Given the description of an element on the screen output the (x, y) to click on. 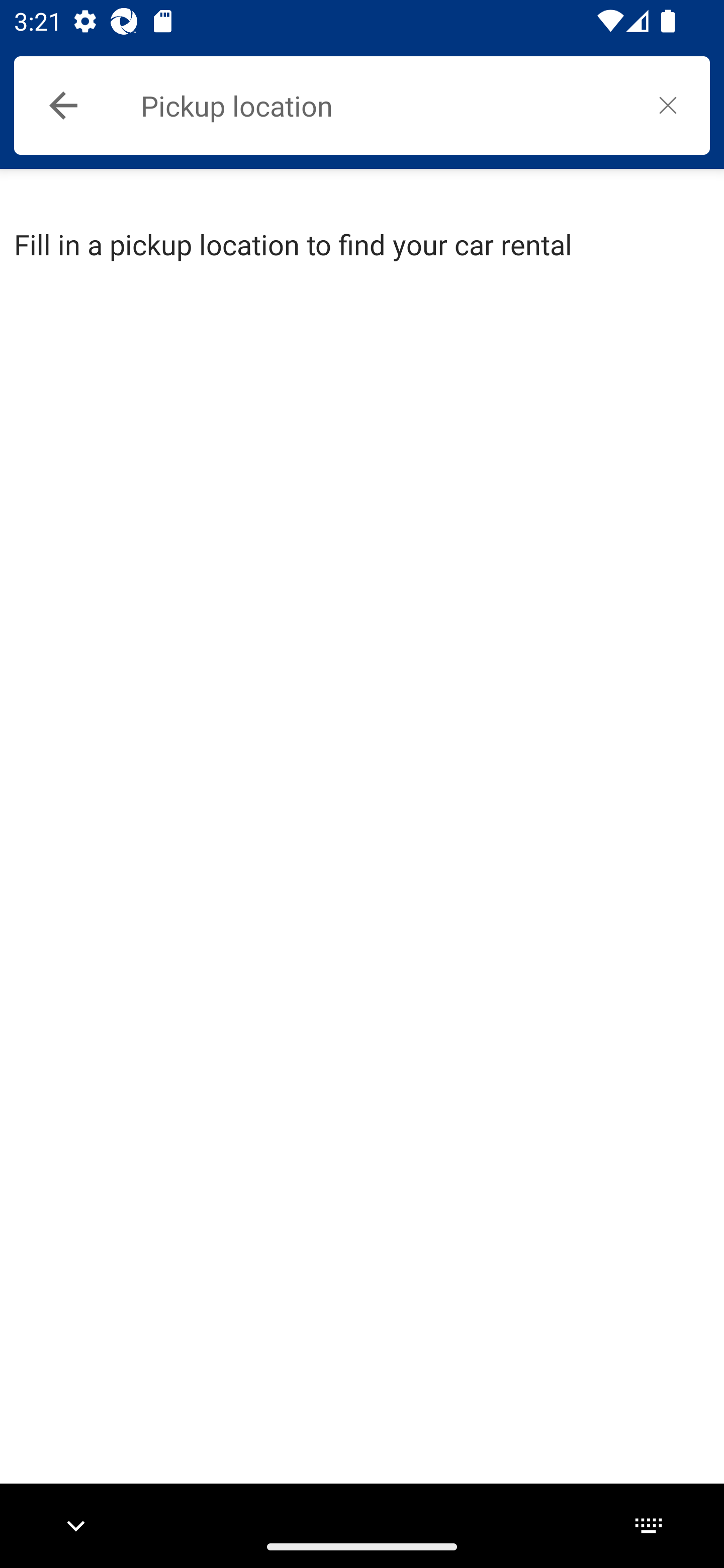
Navigate up (62, 105)
놕 (667, 104)
Pickup location (382, 105)
